Given the description of an element on the screen output the (x, y) to click on. 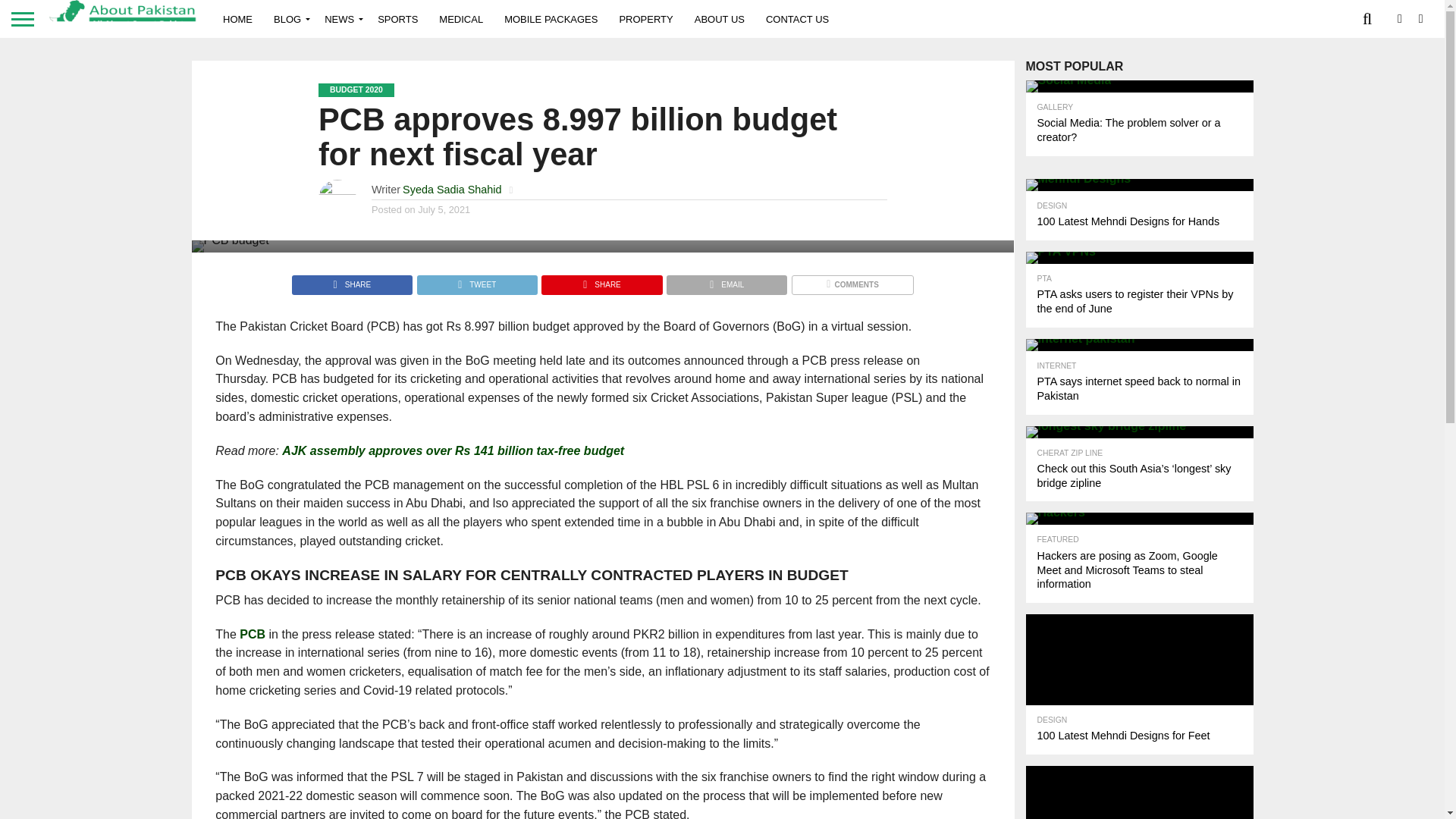
Tweet This Post (476, 280)
HOME (237, 18)
Pin This Post (601, 280)
Share on Facebook (352, 280)
Posts by Syeda Sadia Shahid (451, 189)
BLOG (288, 18)
